Given the description of an element on the screen output the (x, y) to click on. 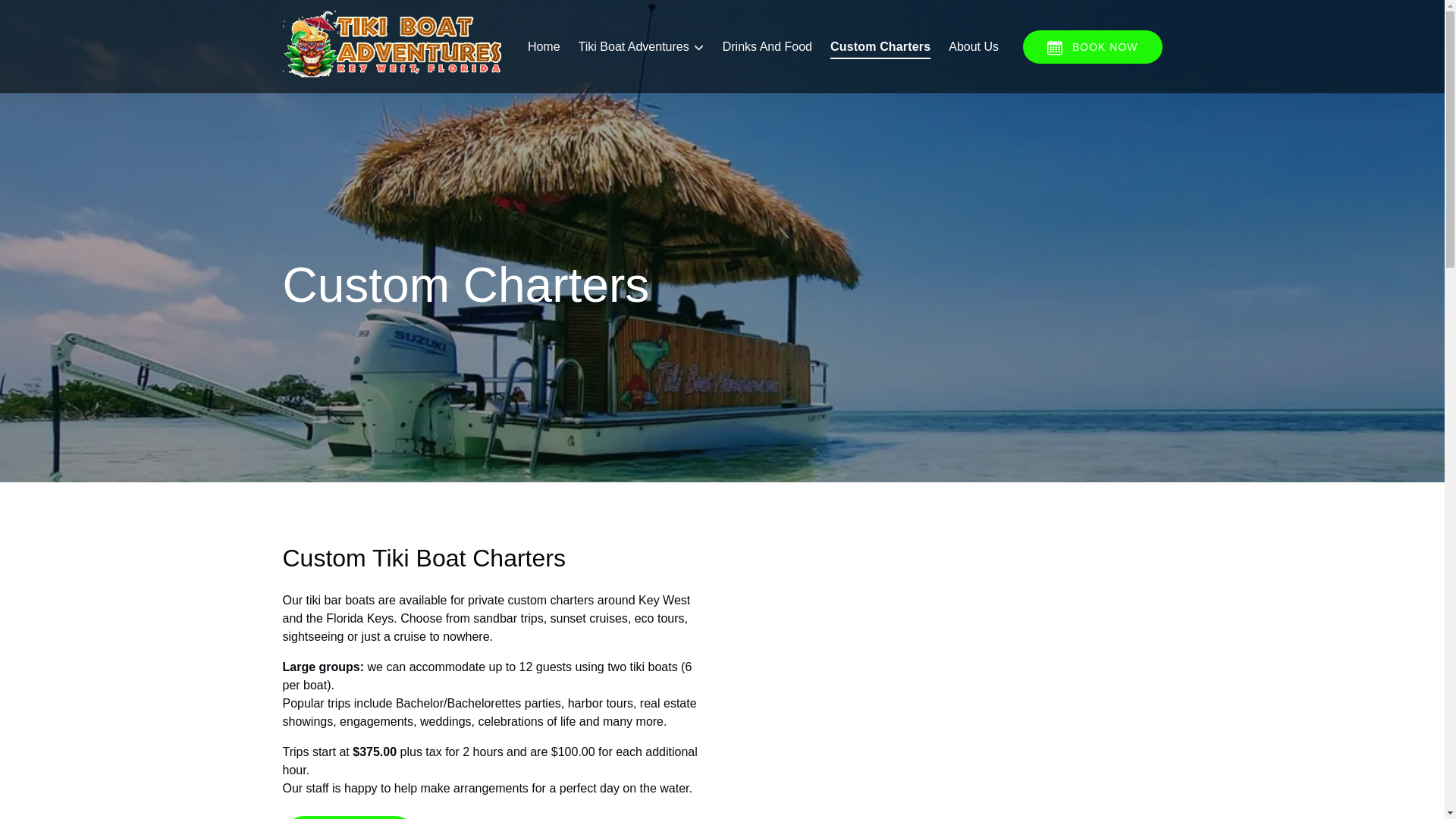
Skip to footer (42, 16)
About Us (973, 46)
Drinks And Food (767, 46)
CALENDAR (1054, 47)
Skip to content (47, 16)
Open Tiki Boat Adventures Menu (644, 42)
Home (543, 46)
Skip to primary navigation (77, 16)
Tiki Boat Adventures (641, 46)
